Given the description of an element on the screen output the (x, y) to click on. 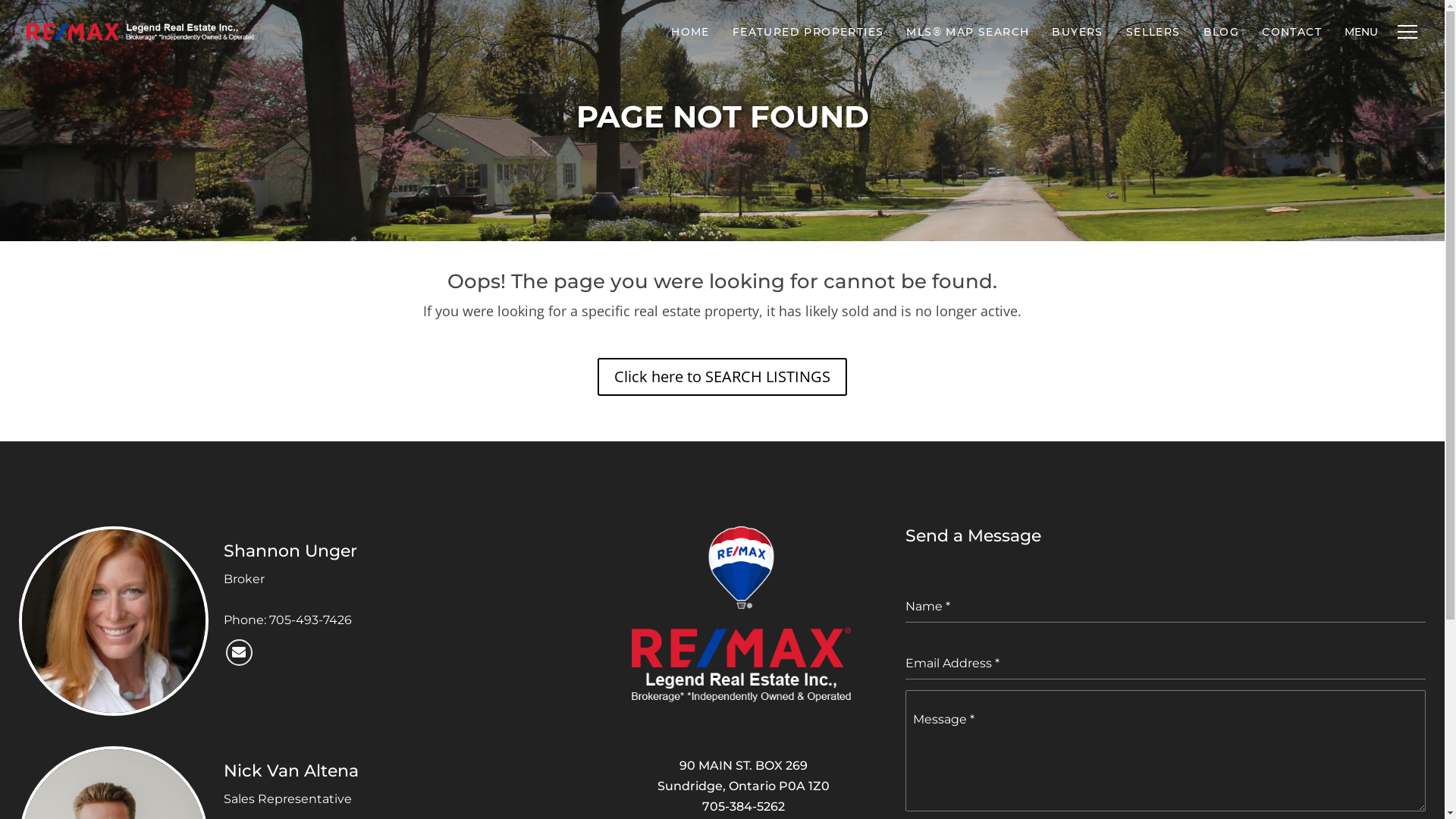
705-493-7426 Element type: text (310, 619)
CONTACT Element type: text (1291, 31)
BLOG Element type: text (1221, 31)
MENU Element type: text (1361, 31)
HOME Element type: text (690, 31)
FEATURED PROPERTIES Element type: text (808, 31)
SELLERS Element type: text (1153, 31)
BUYERS Element type: text (1076, 31)
Click here to SEARCH LISTINGS Element type: text (722, 376)
